Given the description of an element on the screen output the (x, y) to click on. 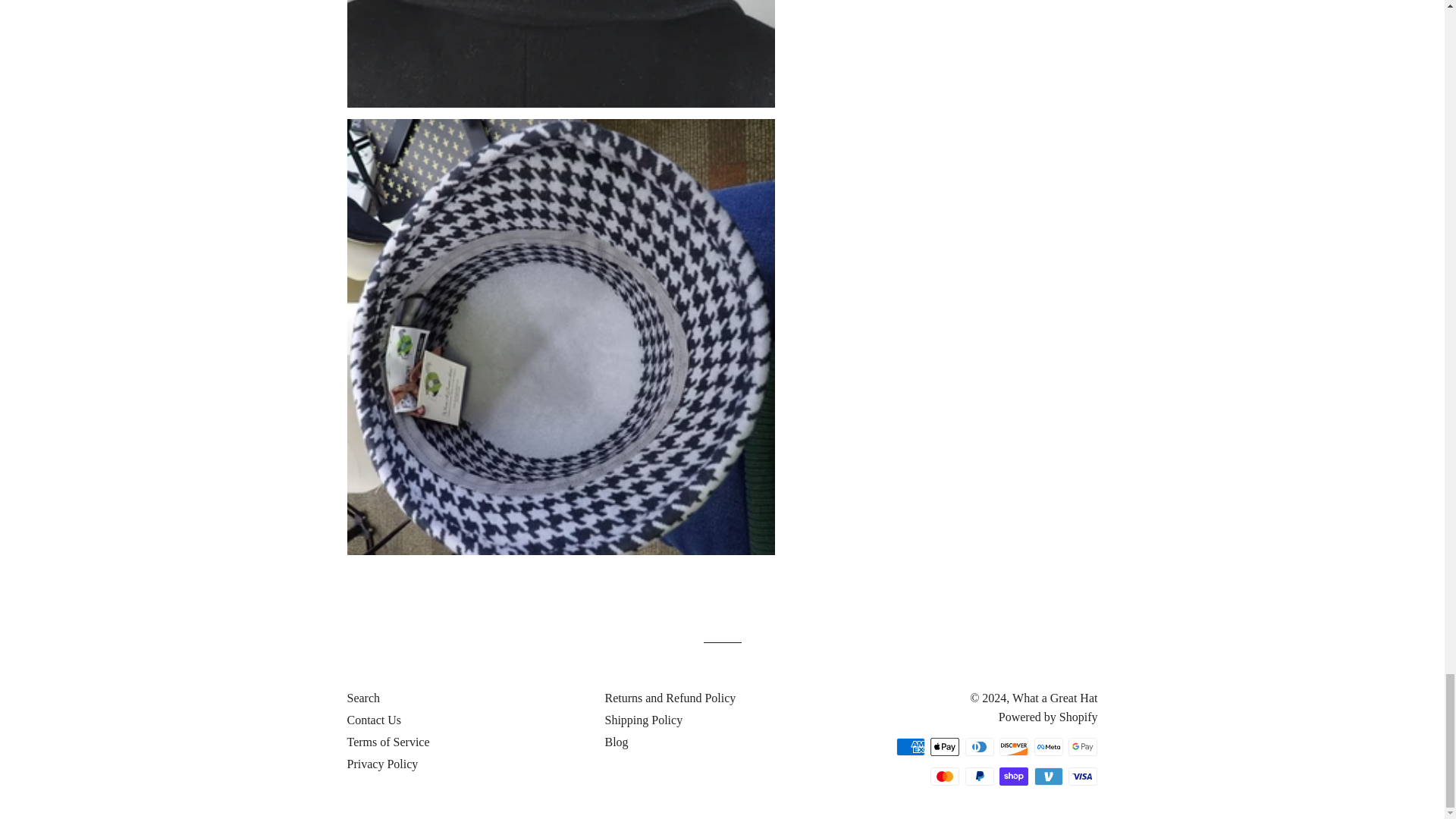
PayPal (979, 776)
Shop Pay (1012, 776)
Meta Pay (1047, 746)
Discover (1012, 746)
Google Pay (1082, 746)
American Express (910, 746)
Mastercard (944, 776)
Diners Club (979, 746)
Venmo (1047, 776)
Apple Pay (944, 746)
